Given the description of an element on the screen output the (x, y) to click on. 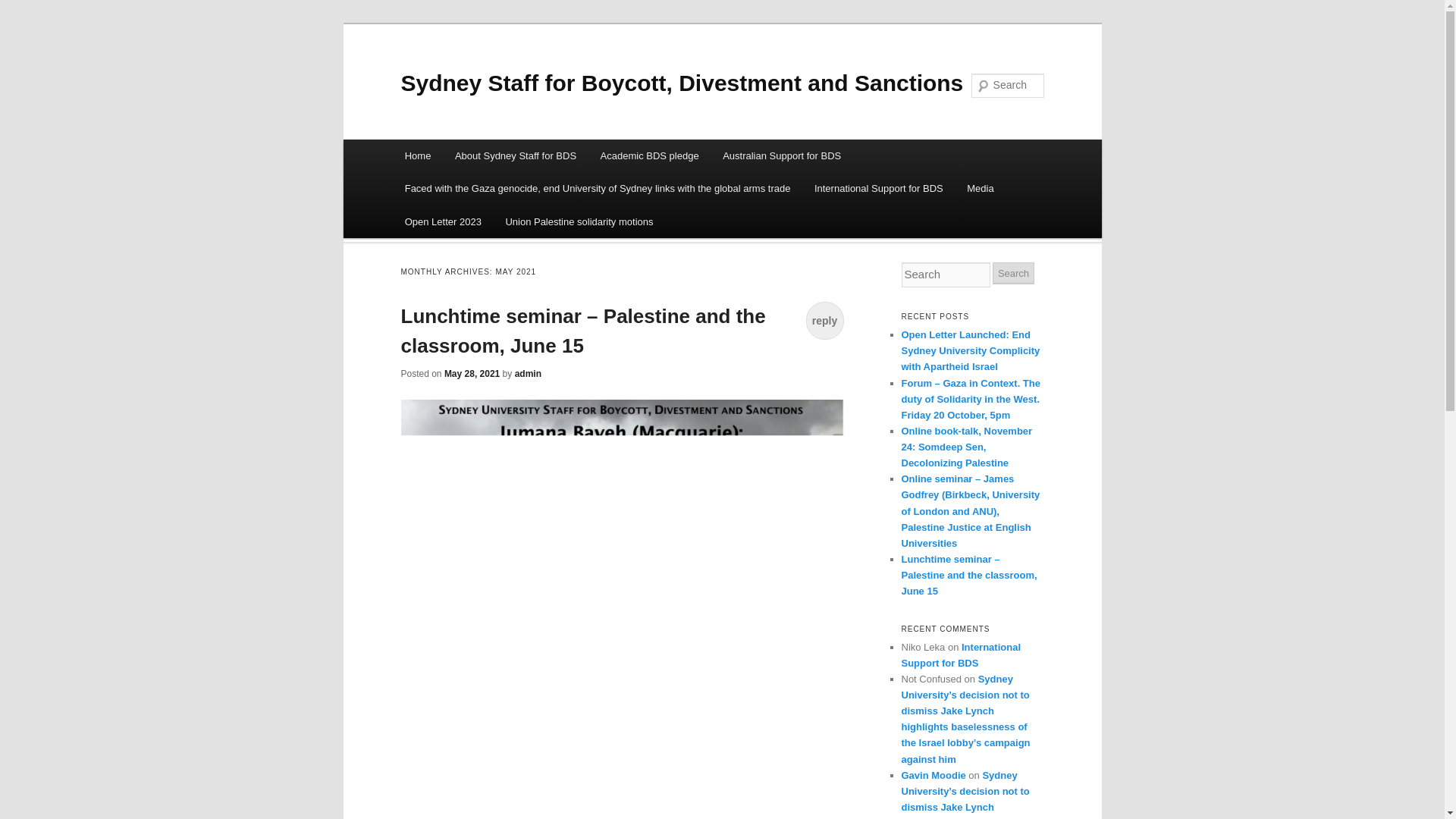
View all posts by admin (528, 373)
reply (824, 320)
Skip to content (414, 196)
Open Letter 2023 (443, 221)
Home (417, 155)
Australian Support for BDS (781, 155)
Academic BDS pledge (649, 155)
International Support for BDS (960, 655)
About Sydney Staff for BDS (515, 155)
admin (528, 373)
International Support for BDS (878, 187)
Search (24, 8)
